Given the description of an element on the screen output the (x, y) to click on. 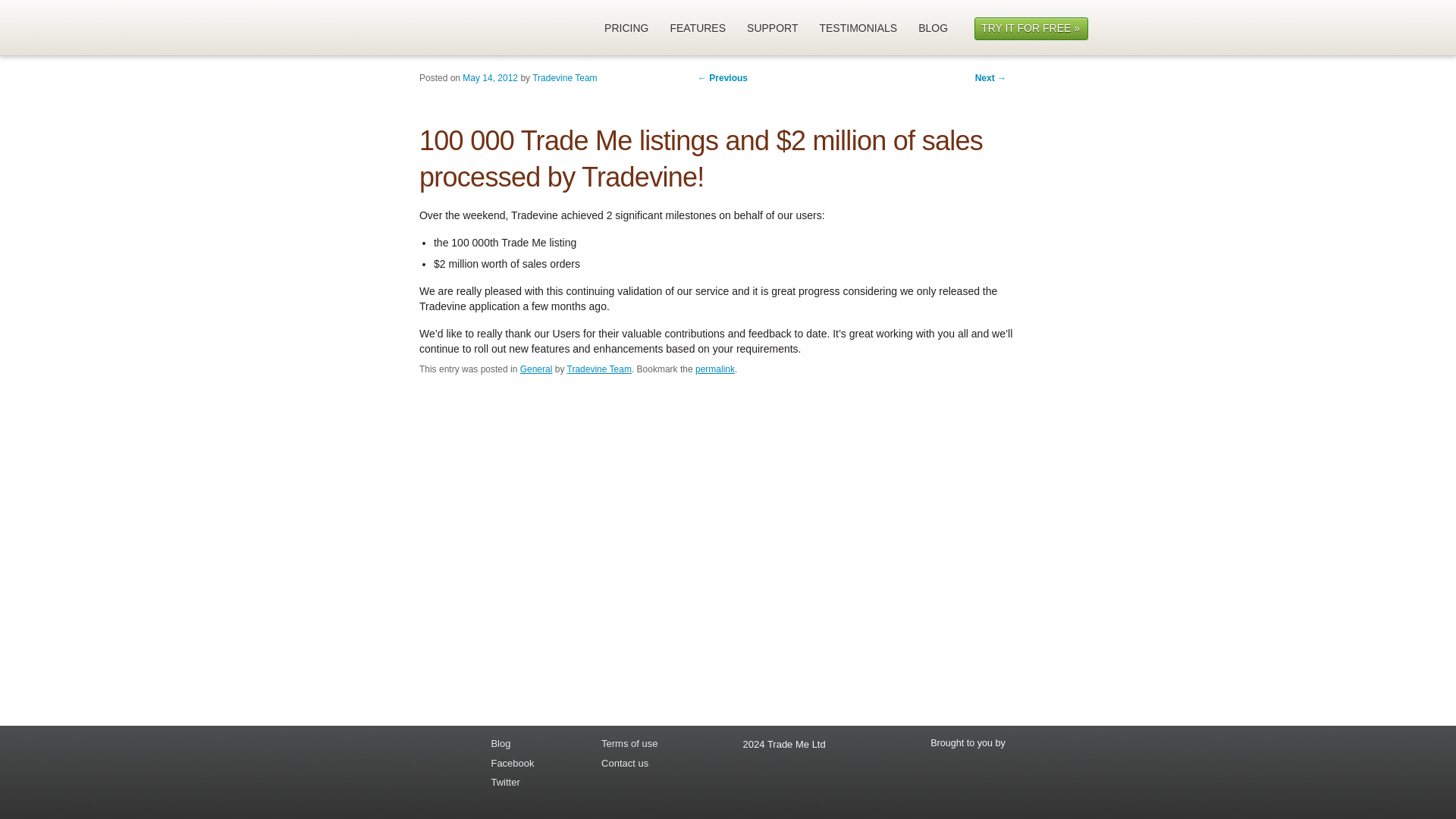
Go to the Tradevine website (430, 26)
Blog (531, 743)
4:22 pm (490, 77)
General (536, 368)
FEATURES (698, 29)
TESTIMONIALS (858, 29)
Facebook (531, 763)
permalink (715, 368)
BLOG (933, 29)
Terms of use (667, 743)
